Given the description of an element on the screen output the (x, y) to click on. 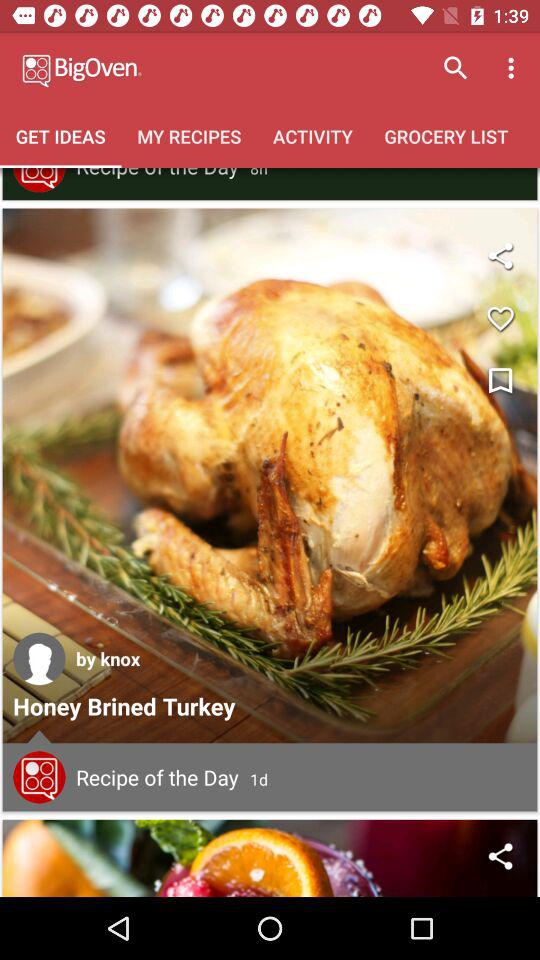
like the recipe (500, 318)
